Given the description of an element on the screen output the (x, y) to click on. 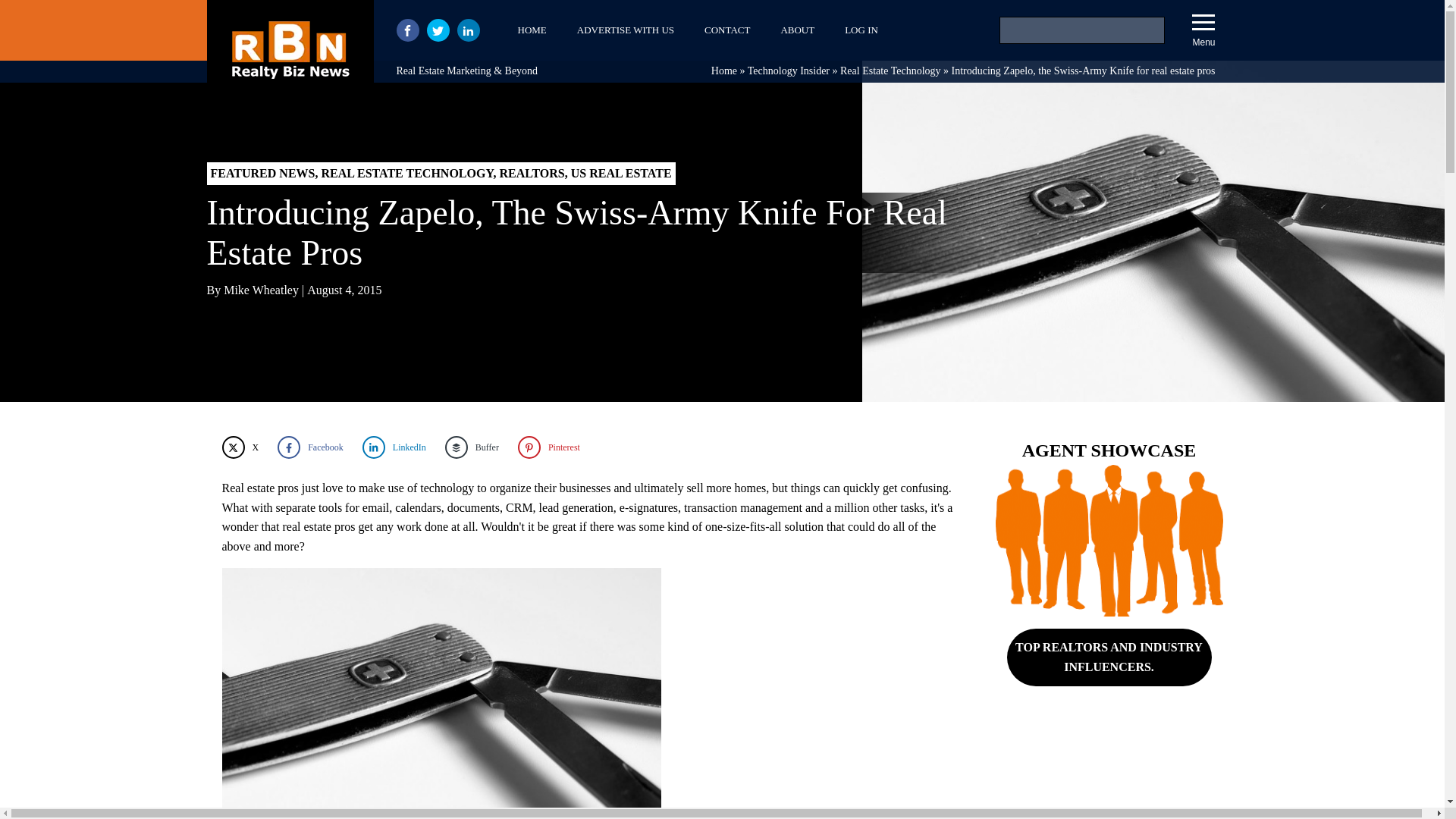
ADVERTISE WITH US (625, 30)
ABOUT (797, 30)
Home (723, 70)
CONTACT (726, 30)
Technology Insider (788, 70)
Home (723, 70)
Real Estate Technology (890, 70)
Real Estate Technology (890, 70)
Search (31, 13)
HOME (531, 30)
Technology Insider (788, 70)
Advertisement (1108, 773)
LOG IN (861, 30)
